Given the description of an element on the screen output the (x, y) to click on. 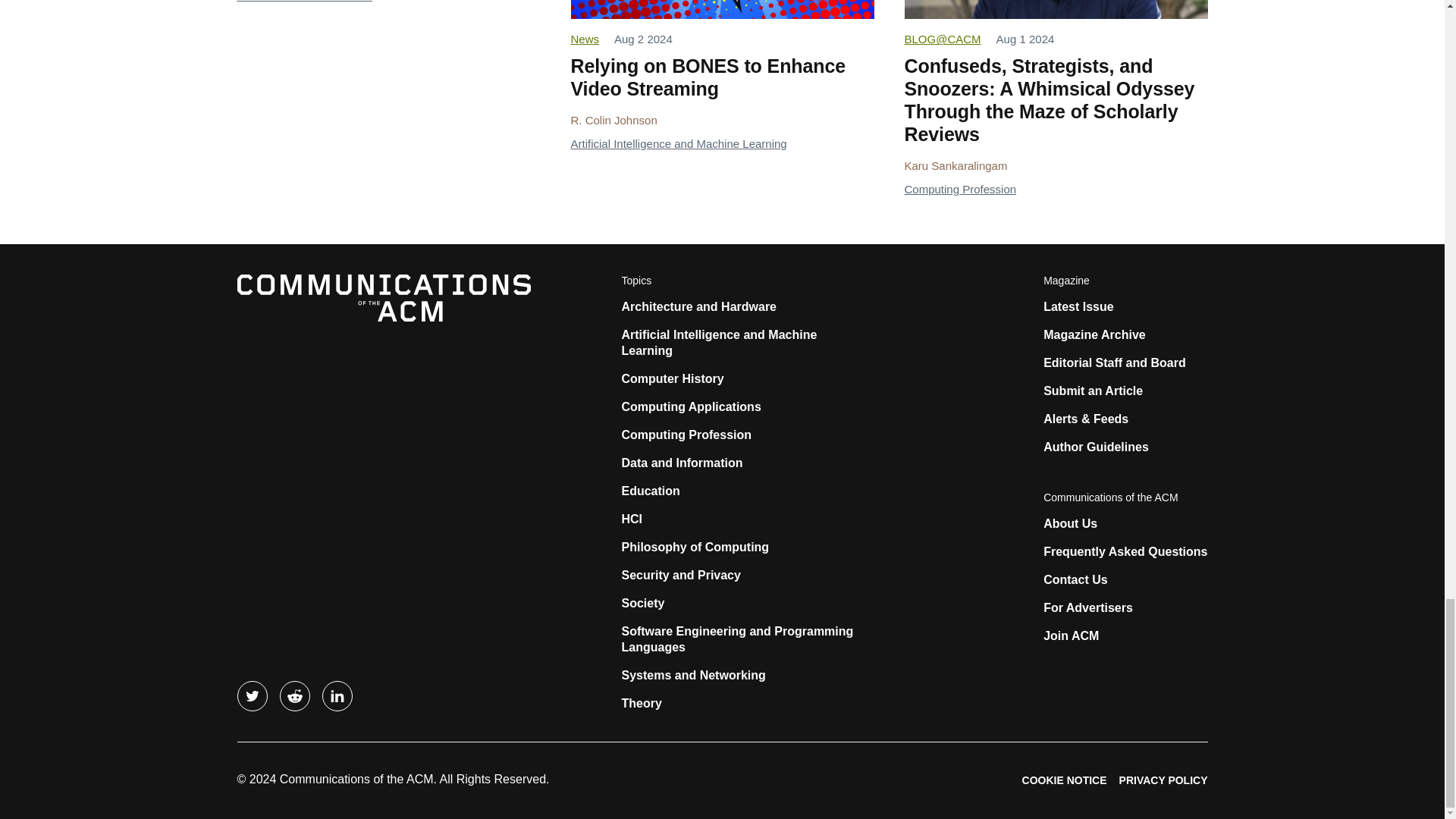
Posts by R. Colin Johnson (613, 119)
